Given the description of an element on the screen output the (x, y) to click on. 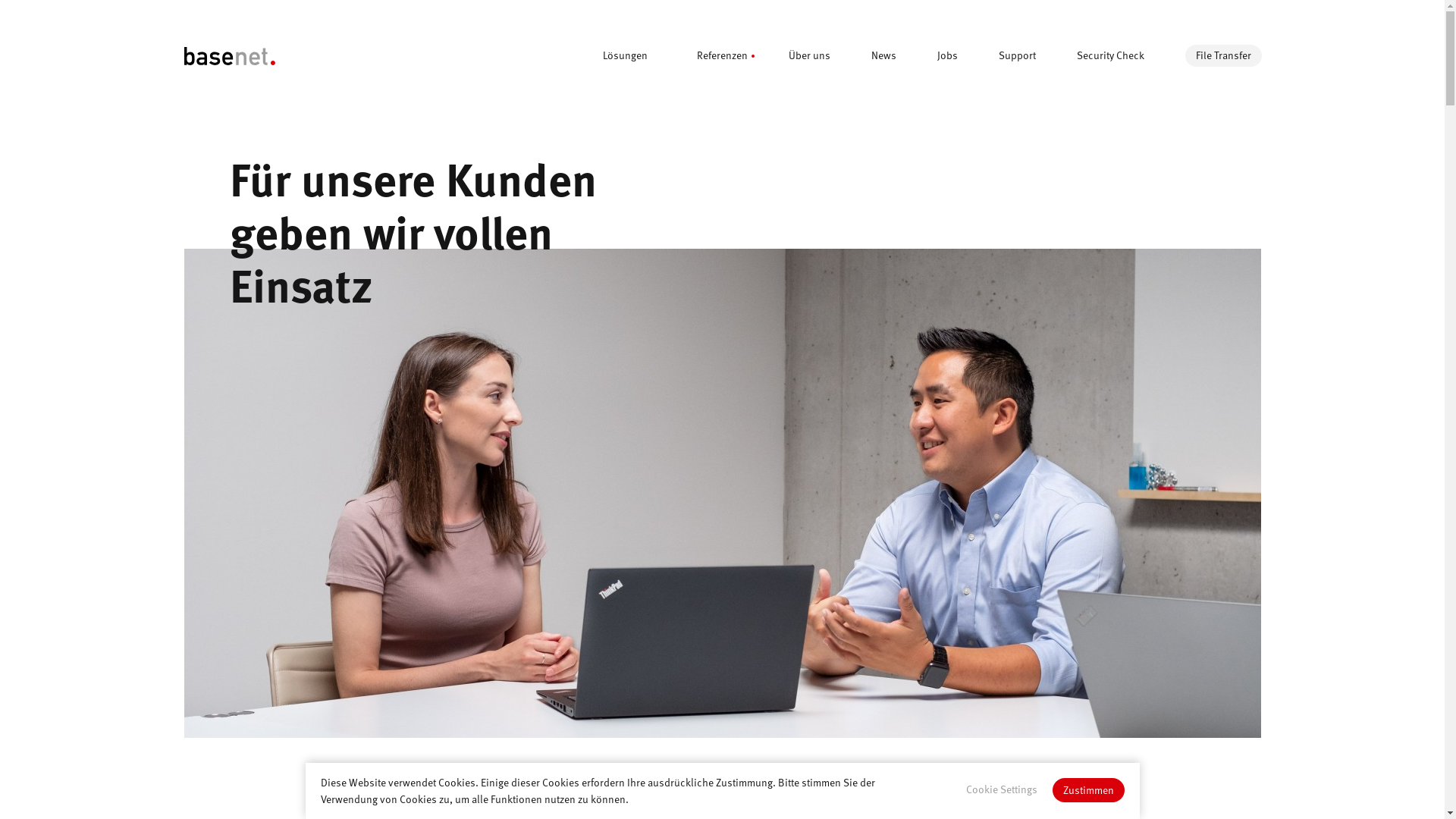
File Transfer Element type: text (1222, 55)
Support Element type: text (1020, 54)
Security Check Element type: text (1114, 54)
bnits Element type: hover (228, 55)
Referenzen Element type: text (725, 54)
Jobs Element type: text (951, 54)
News Element type: text (886, 54)
